Given the description of an element on the screen output the (x, y) to click on. 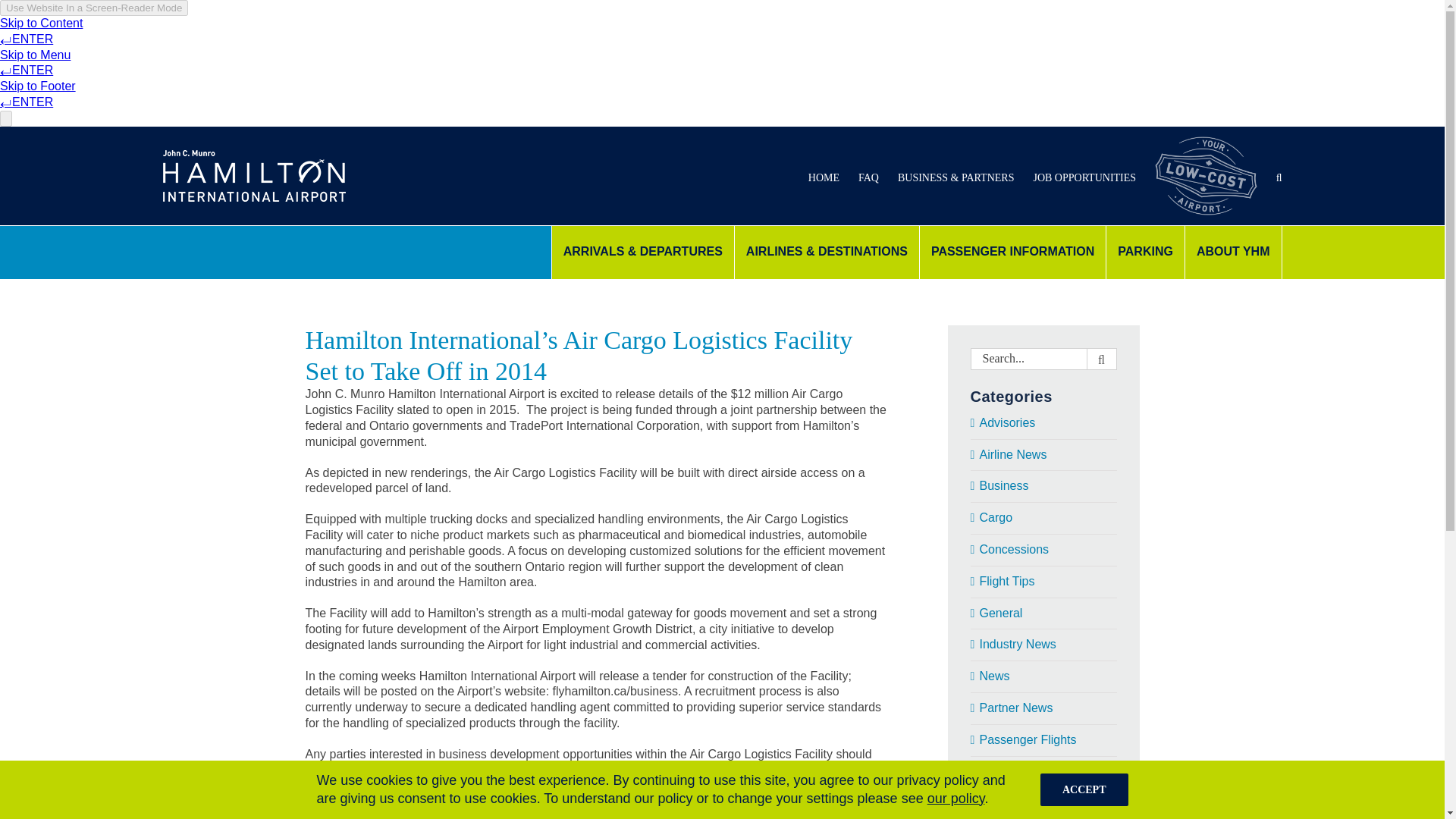
JOB OPPORTUNITIES (1083, 175)
